Given the description of an element on the screen output the (x, y) to click on. 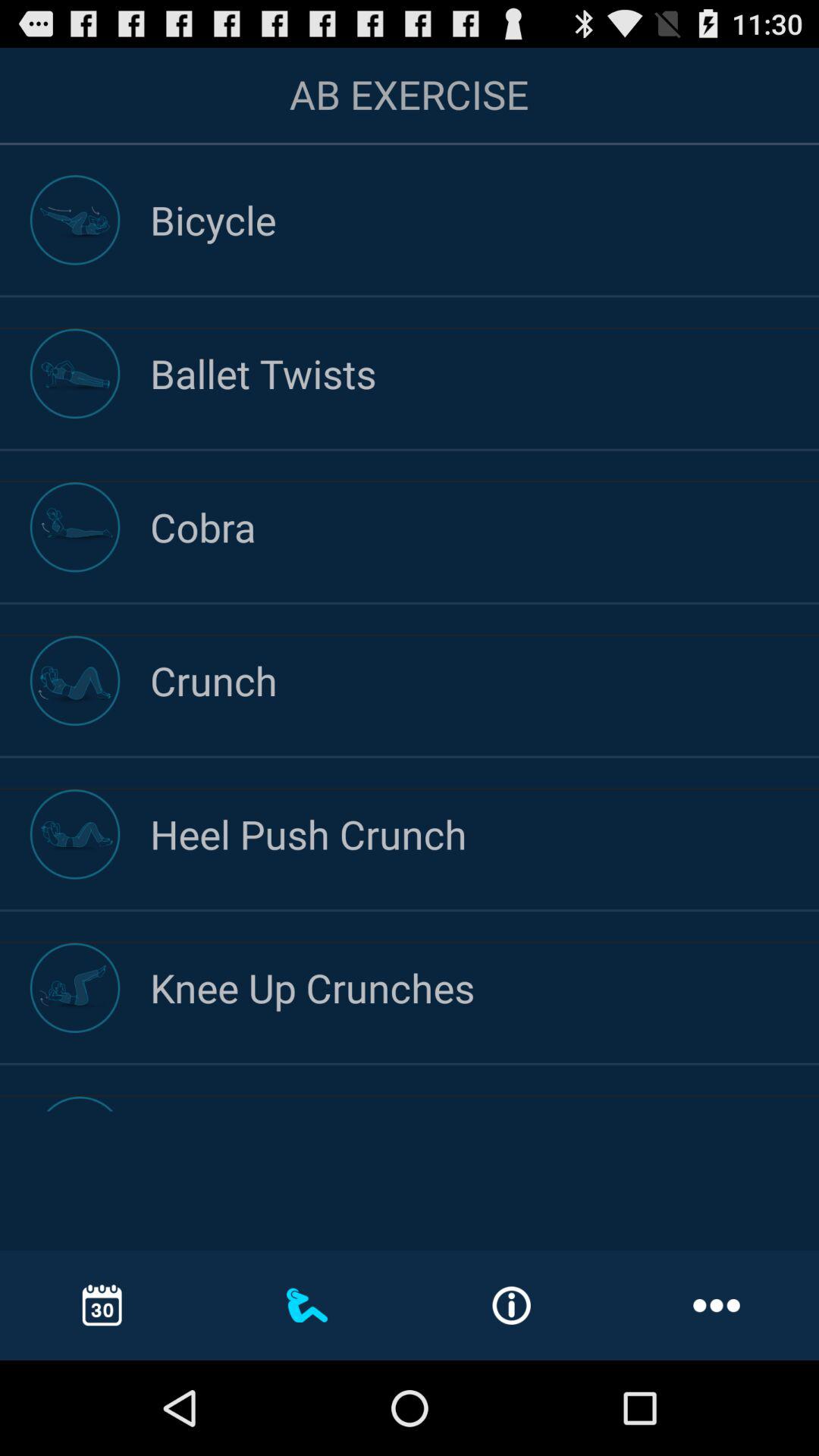
launch heel push crunch icon (484, 833)
